Given the description of an element on the screen output the (x, y) to click on. 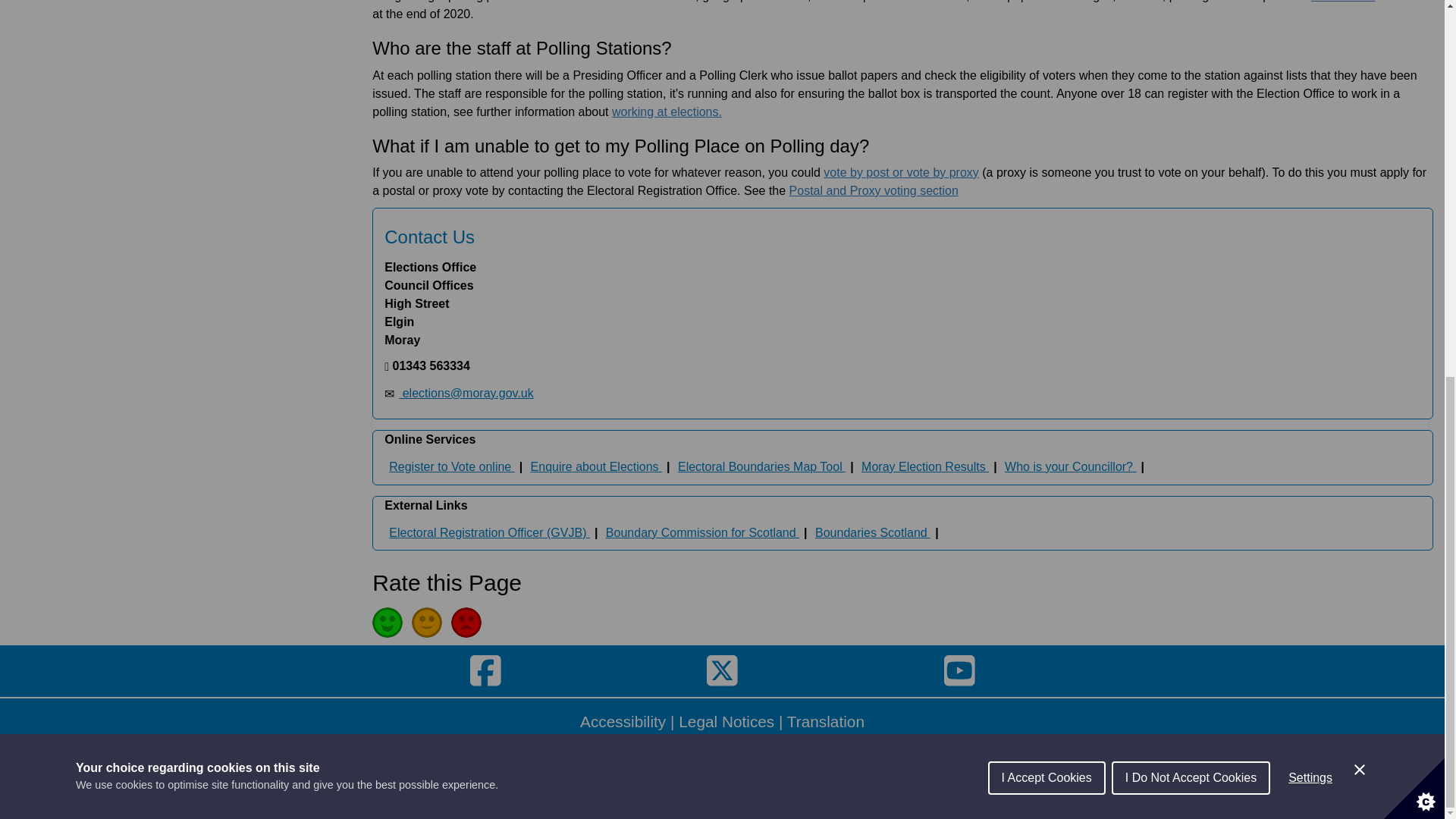
Settings (1309, 126)
I Accept Cookies (1046, 157)
I Do Not Accept Cookies (1190, 142)
